Given the description of an element on the screen output the (x, y) to click on. 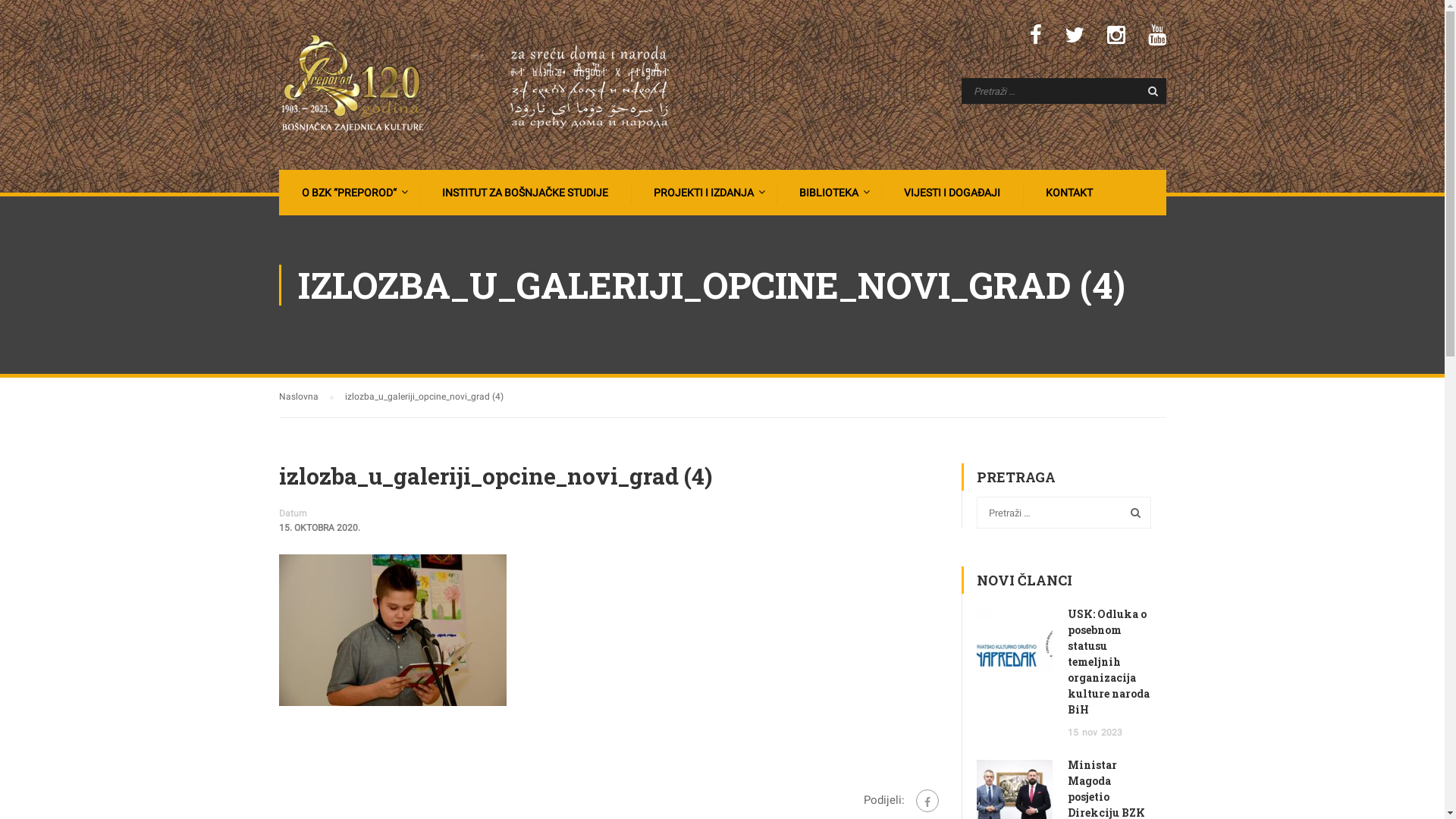
KONTAKT Element type: text (1066, 192)
PROJEKTI I IZDANJA Element type: text (701, 192)
Naslovna Element type: text (306, 396)
Pretraga Element type: text (1147, 90)
Facebook Element type: hover (927, 800)
BIBLIOTEKA Element type: text (827, 192)
Pretplata Element type: text (45, 15)
Pretraga Element type: text (1132, 512)
